Given the description of an element on the screen output the (x, y) to click on. 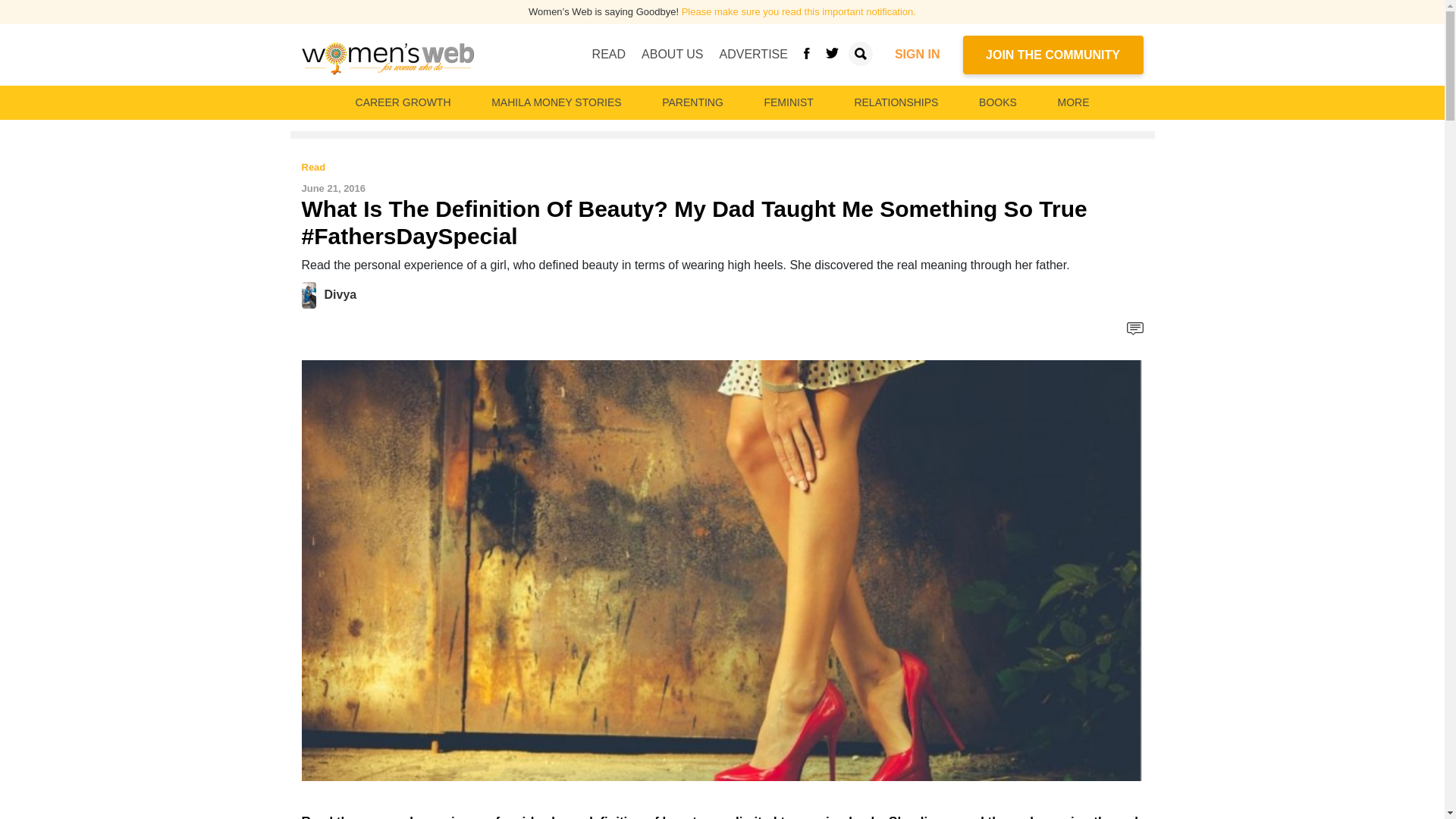
ADVERTISE (753, 54)
Please make sure you read this important notification. (798, 11)
ABOUT US (672, 54)
CAREER GROWTH (402, 102)
Divya (312, 294)
Divya (340, 294)
RELATIONSHIPS (894, 102)
BOOKS (998, 102)
MAHILA MONEY STORIES (555, 102)
FEMINIST (788, 102)
MORE (1072, 102)
PARENTING (691, 102)
READ (608, 54)
